Given the description of an element on the screen output the (x, y) to click on. 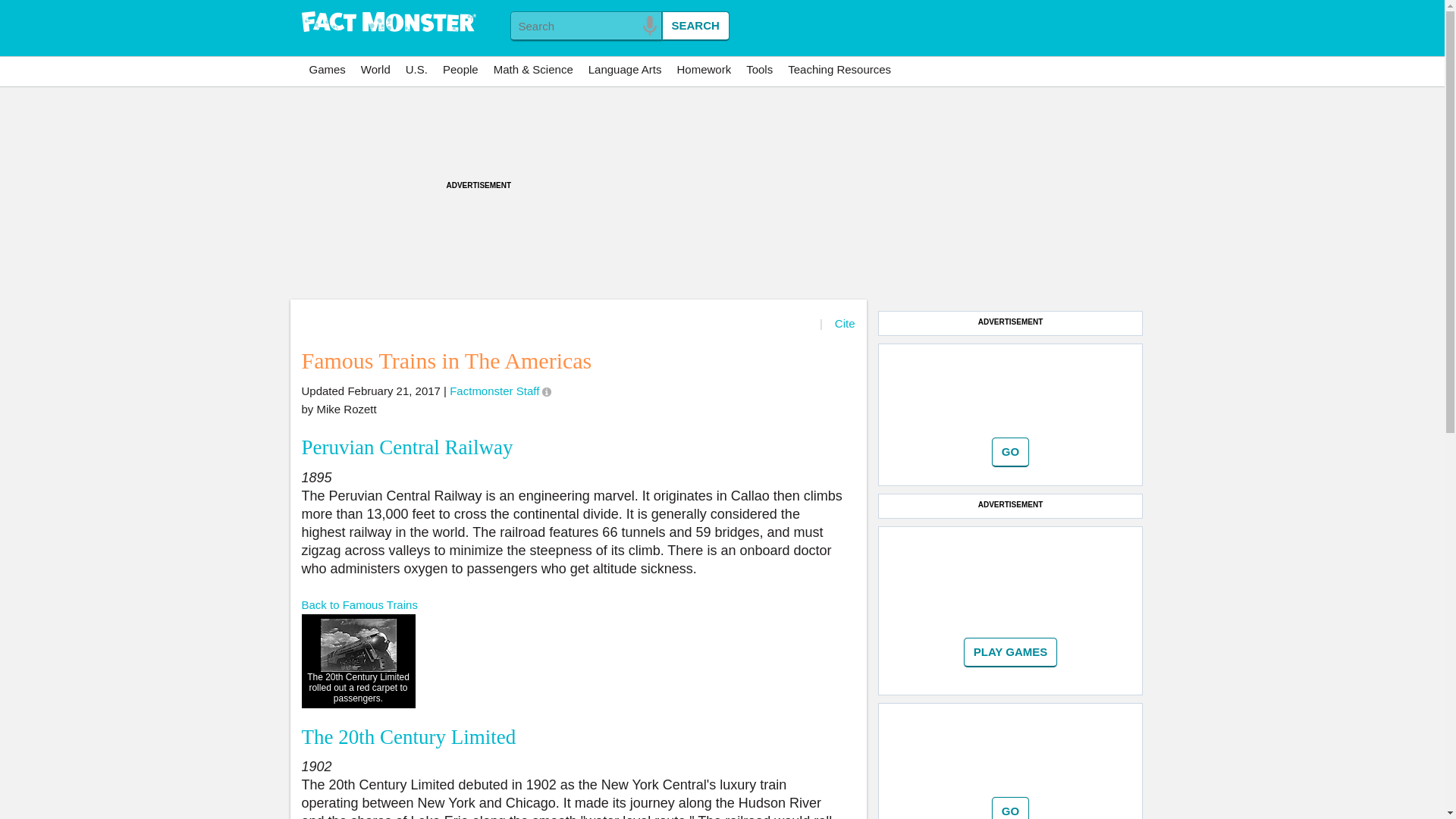
Home (387, 22)
Updated by an Factmonster Editor on February 21, 2017 (546, 391)
Games (327, 69)
Go (1010, 807)
Go (1010, 451)
Go (1010, 652)
Go (1010, 807)
Search (695, 25)
Search (695, 25)
Search (695, 25)
U.S. (416, 69)
World (375, 69)
Visit our teacher resource sister site! (839, 69)
Play Games (1010, 652)
Go (1010, 451)
